Given the description of an element on the screen output the (x, y) to click on. 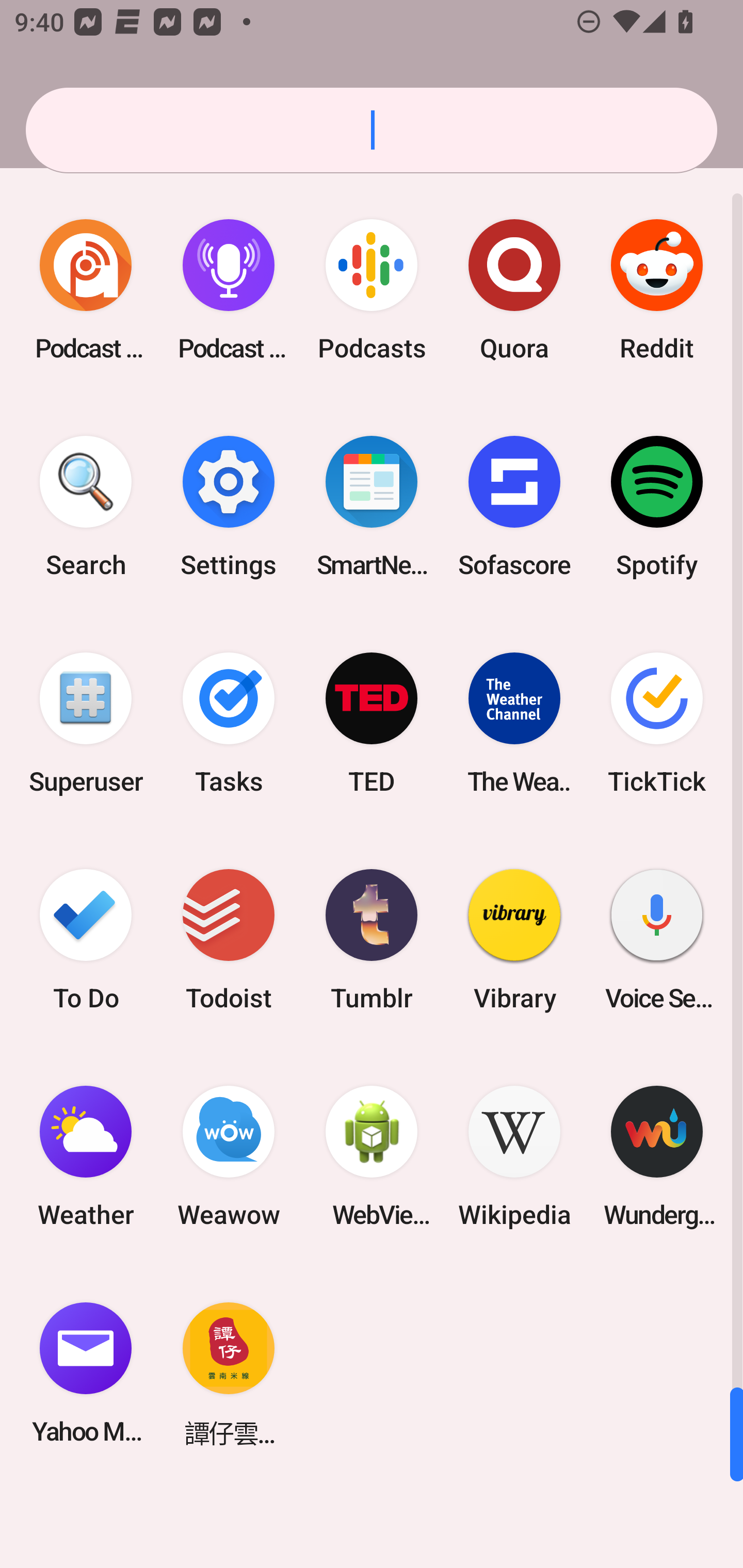
  Search apps (371, 130)
Podcast Addict (85, 289)
Podcast Player (228, 289)
Podcasts (371, 289)
Quora (514, 289)
Reddit (656, 289)
Search (85, 506)
Settings (228, 506)
SmartNews (371, 506)
Sofascore (514, 506)
Spotify (656, 506)
Superuser (85, 722)
Tasks (228, 722)
TED (371, 722)
The Weather Channel (514, 722)
TickTick (656, 722)
To Do (85, 939)
Todoist (228, 939)
Tumblr (371, 939)
Vibrary (514, 939)
Voice Search (656, 939)
Weather (85, 1156)
Weawow (228, 1156)
WebView Browser Tester (371, 1156)
Wikipedia (514, 1156)
Wunderground (656, 1156)
Yahoo Mail (85, 1373)
譚仔雲南米線 (228, 1373)
